Given the description of an element on the screen output the (x, y) to click on. 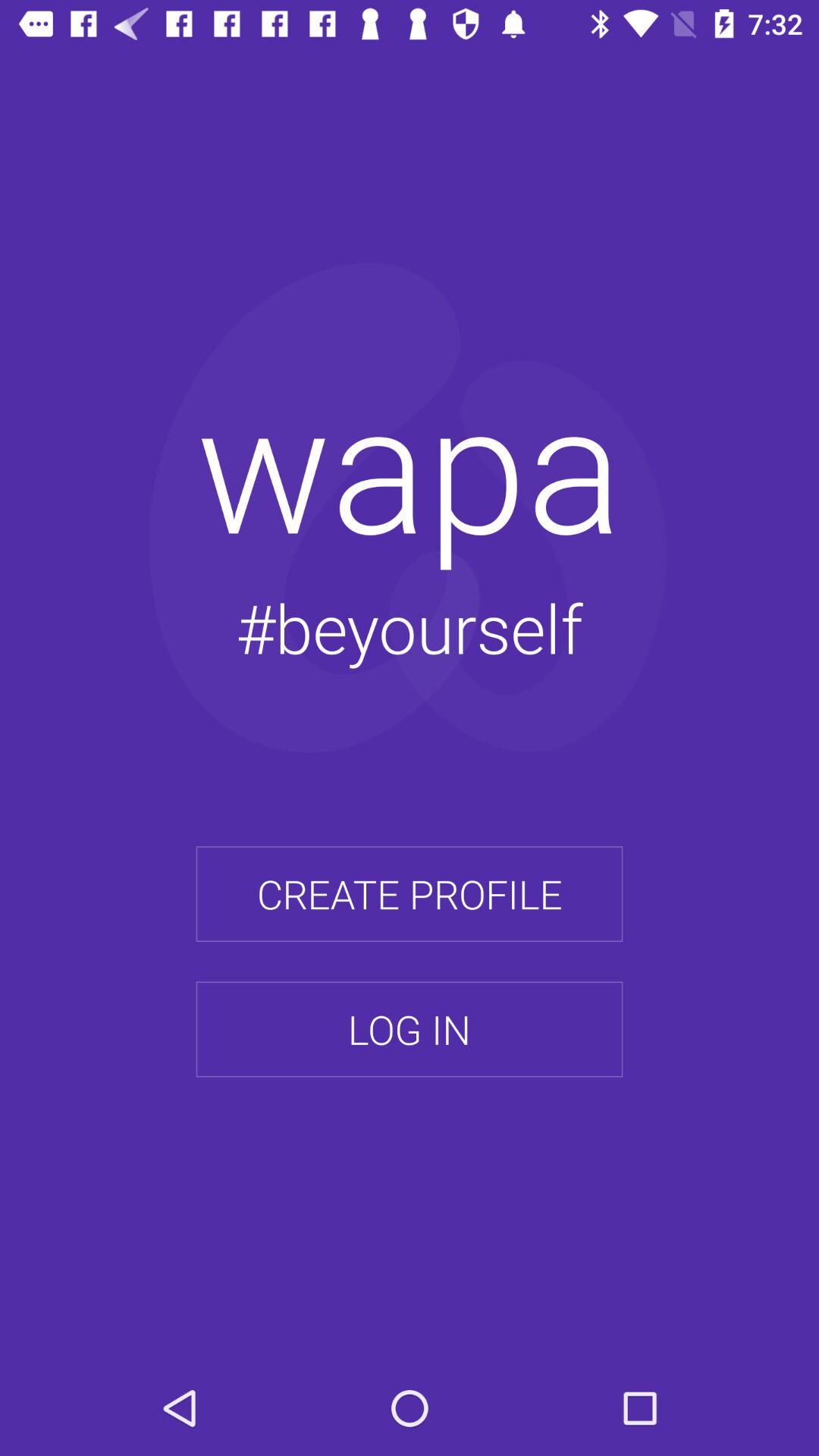
turn off the item below the create profile item (409, 1029)
